Given the description of an element on the screen output the (x, y) to click on. 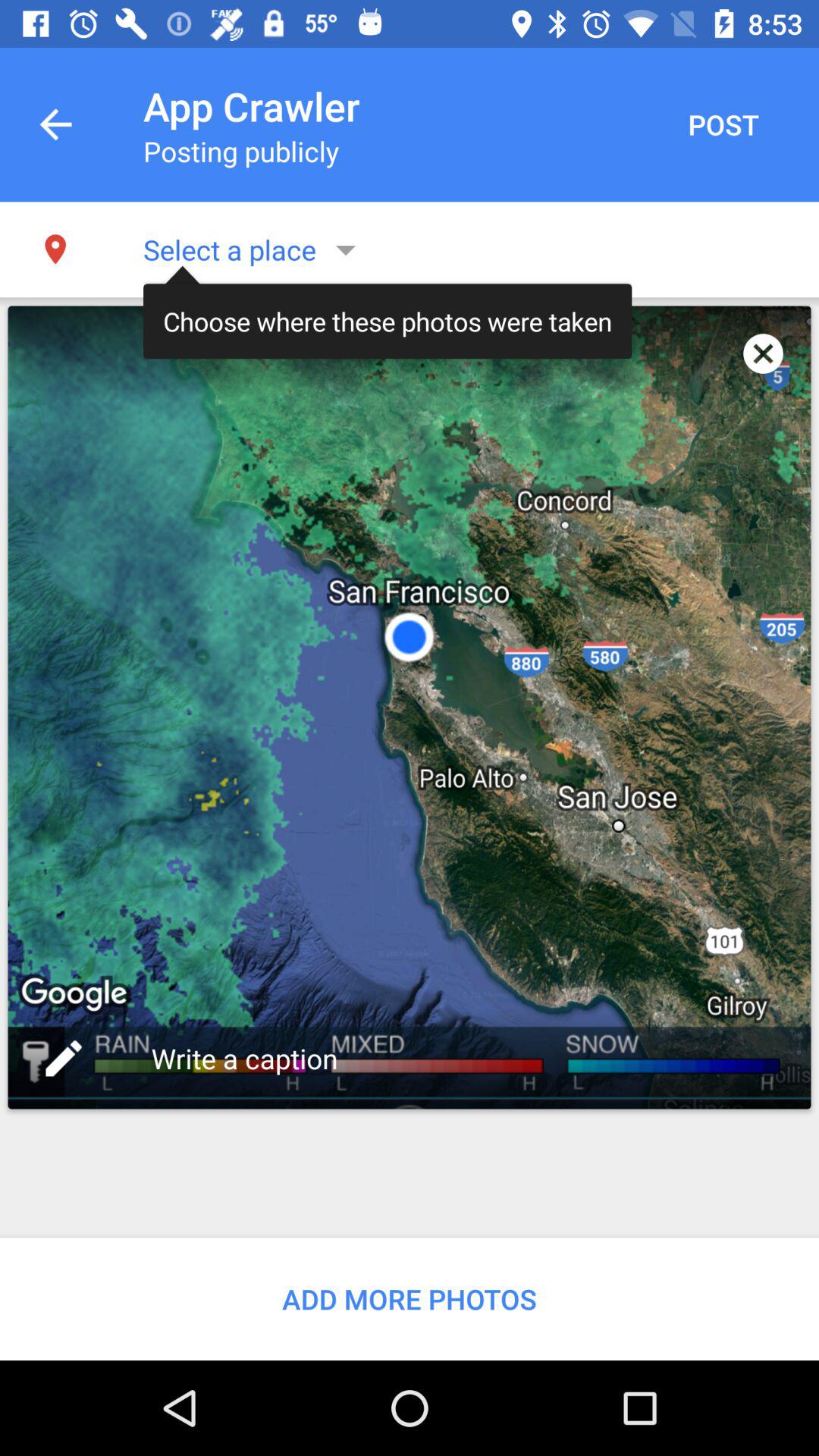
select app next to app crawler (723, 124)
